Given the description of an element on the screen output the (x, y) to click on. 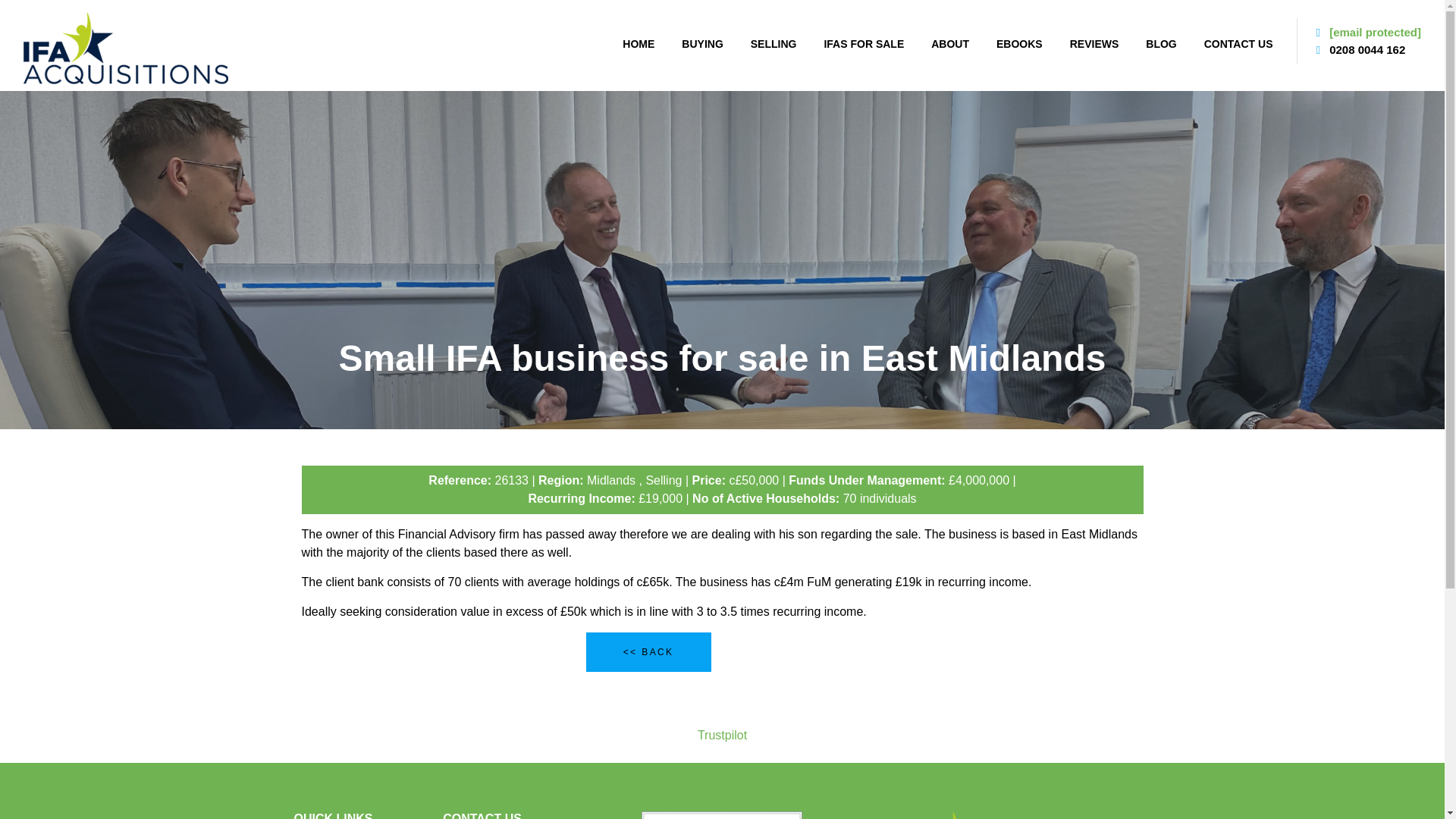
SELLING (773, 44)
ABOUT (949, 44)
REVIEWS (1094, 44)
Trustpilot (721, 735)
CONTACT US (1238, 44)
BUYING (702, 44)
BLOG (1161, 44)
EBOOKS (1019, 44)
IFAS FOR SALE (863, 44)
HOME (638, 44)
